Given the description of an element on the screen output the (x, y) to click on. 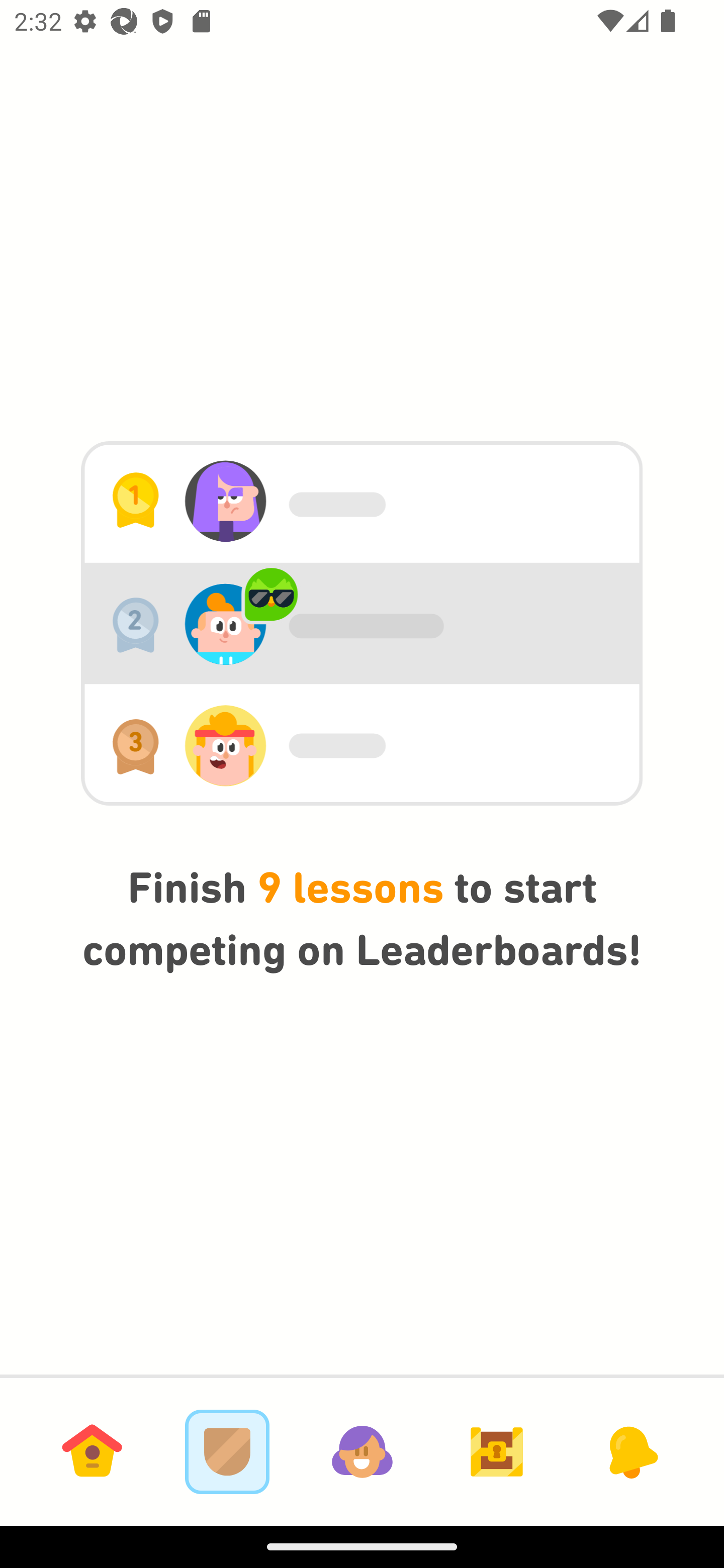
Learn Tab (91, 1451)
Leagues Tab (227, 1451)
Profile Tab (361, 1451)
Goals Tab (496, 1451)
News Tab (631, 1451)
